Given the description of an element on the screen output the (x, y) to click on. 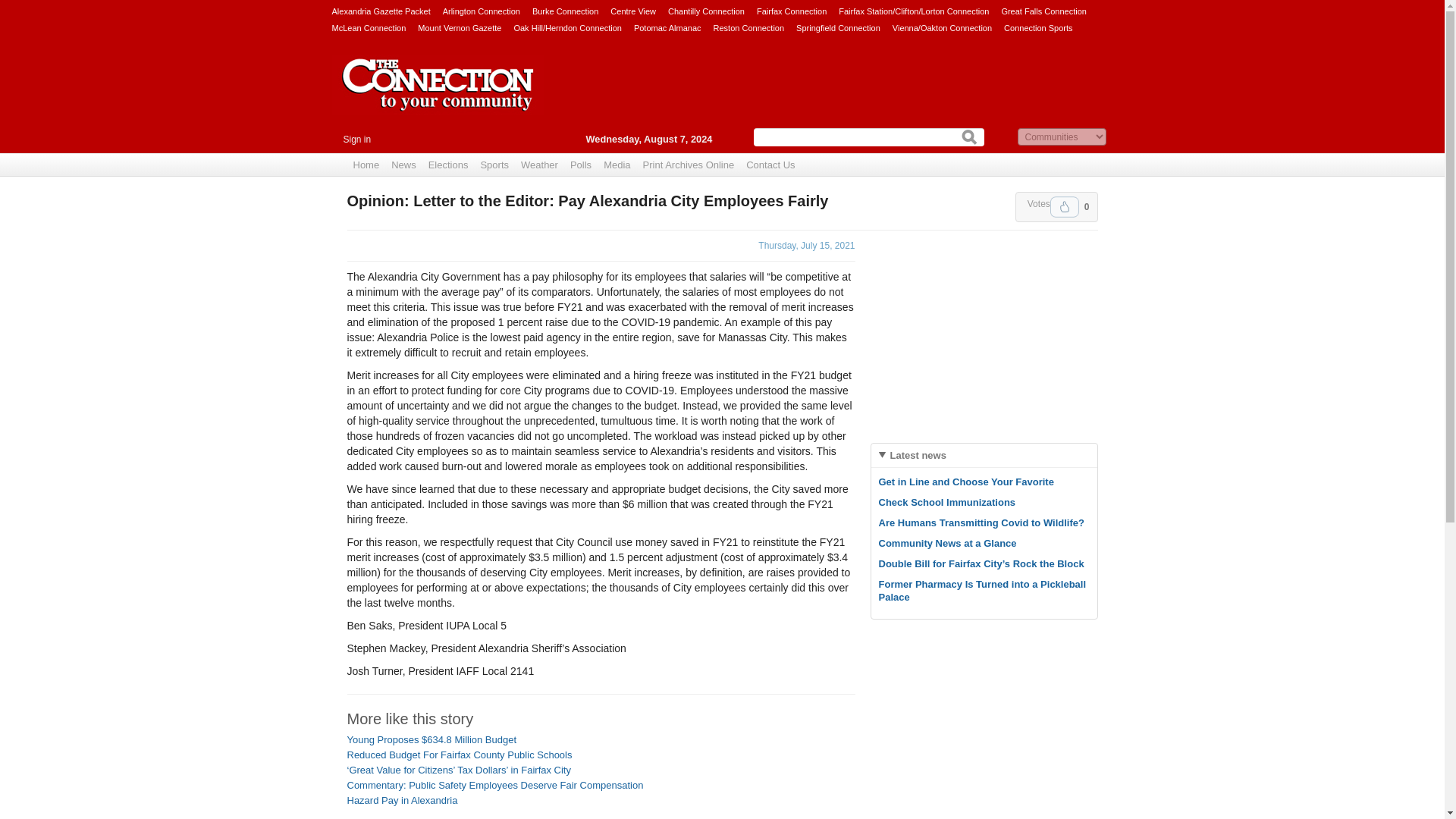
McLean Connection (368, 27)
Potomac Almanac (667, 27)
Home (366, 164)
Mount Vernon Gazette (458, 27)
Arlington Connection (480, 11)
Elections (448, 164)
News (403, 164)
Fairfax Connection (792, 11)
Alexandria Gazette Packet (380, 11)
Great Falls Connection (1043, 11)
Centre View (633, 11)
Reston Connection (748, 27)
Connection Sports (1038, 27)
The Connection (437, 96)
Chantilly Connection (706, 11)
